Given the description of an element on the screen output the (x, y) to click on. 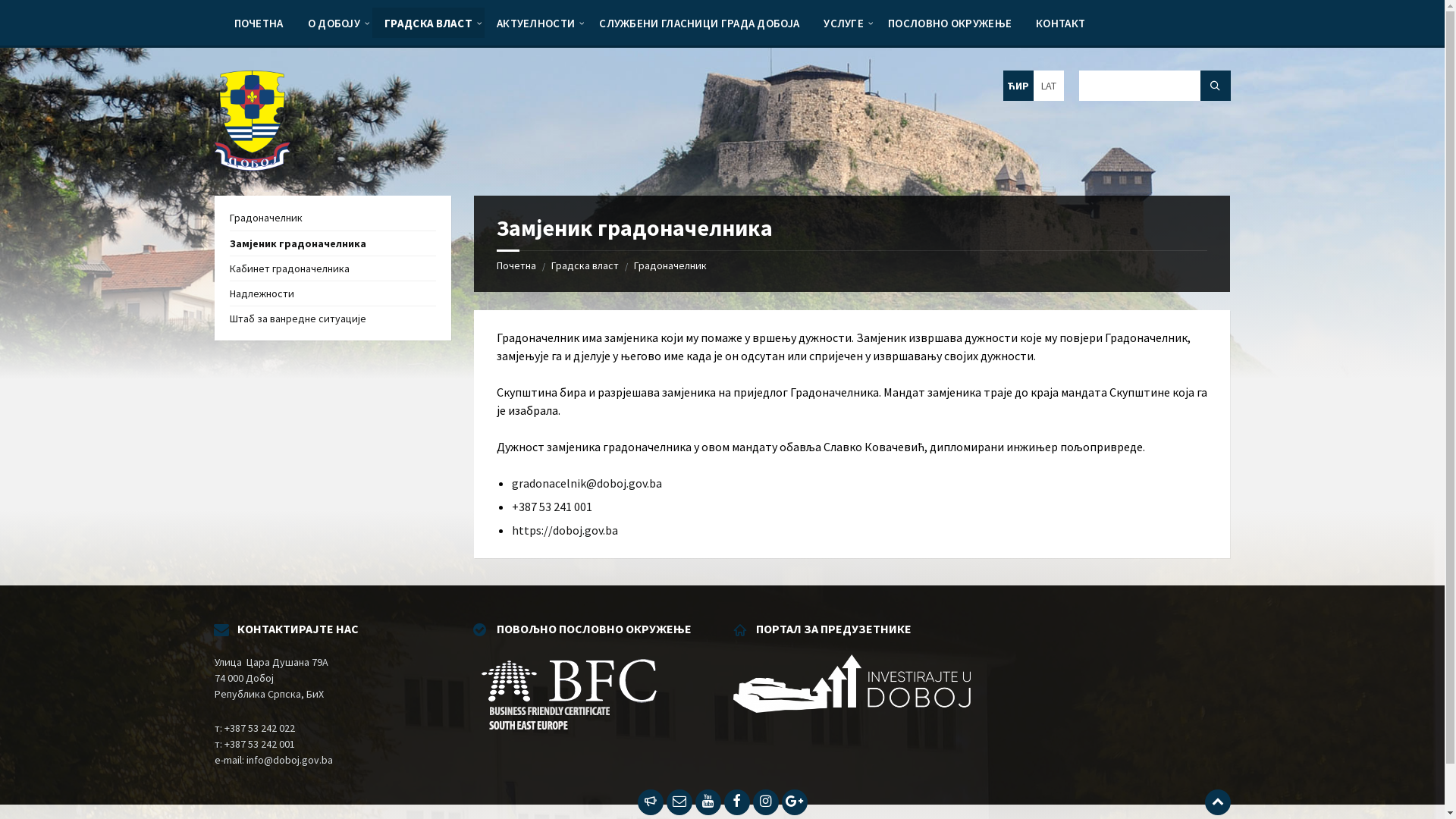
gradonacelnik@doboj.gov.ba Element type: text (586, 482)
Submit search Element type: hover (1214, 85)
+387 53 241 001 Element type: text (551, 506)
RSS Element type: text (649, 802)
Instagram Element type: text (765, 802)
Facebook Element type: text (736, 802)
LAT Element type: text (1047, 85)
https://doboj.gov.ba Element type: text (564, 529)
Google+ Element type: text (793, 802)
YouTube Element type: text (707, 802)
